Given the description of an element on the screen output the (x, y) to click on. 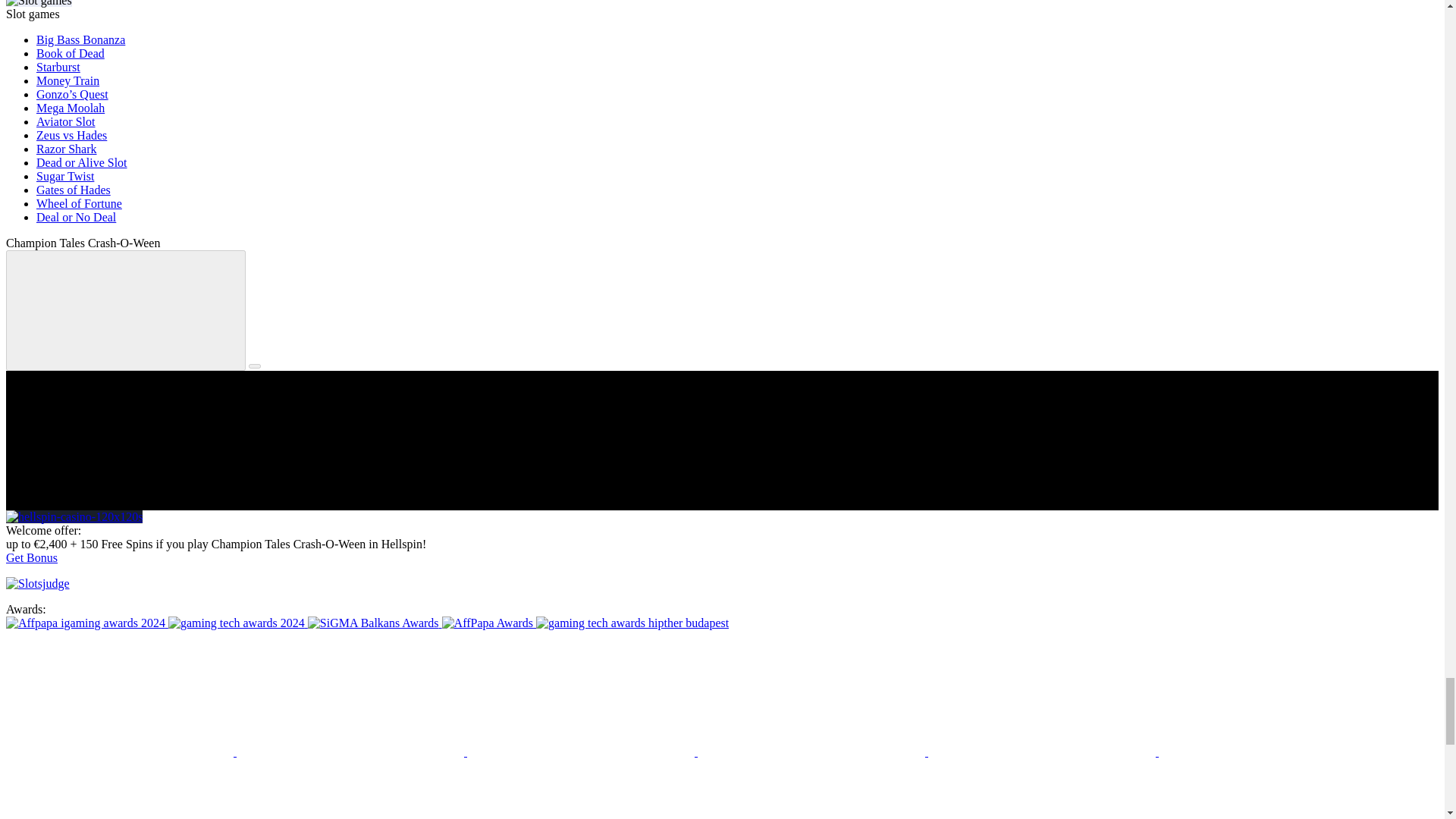
fullscreen (125, 310)
